Given the description of an element on the screen output the (x, y) to click on. 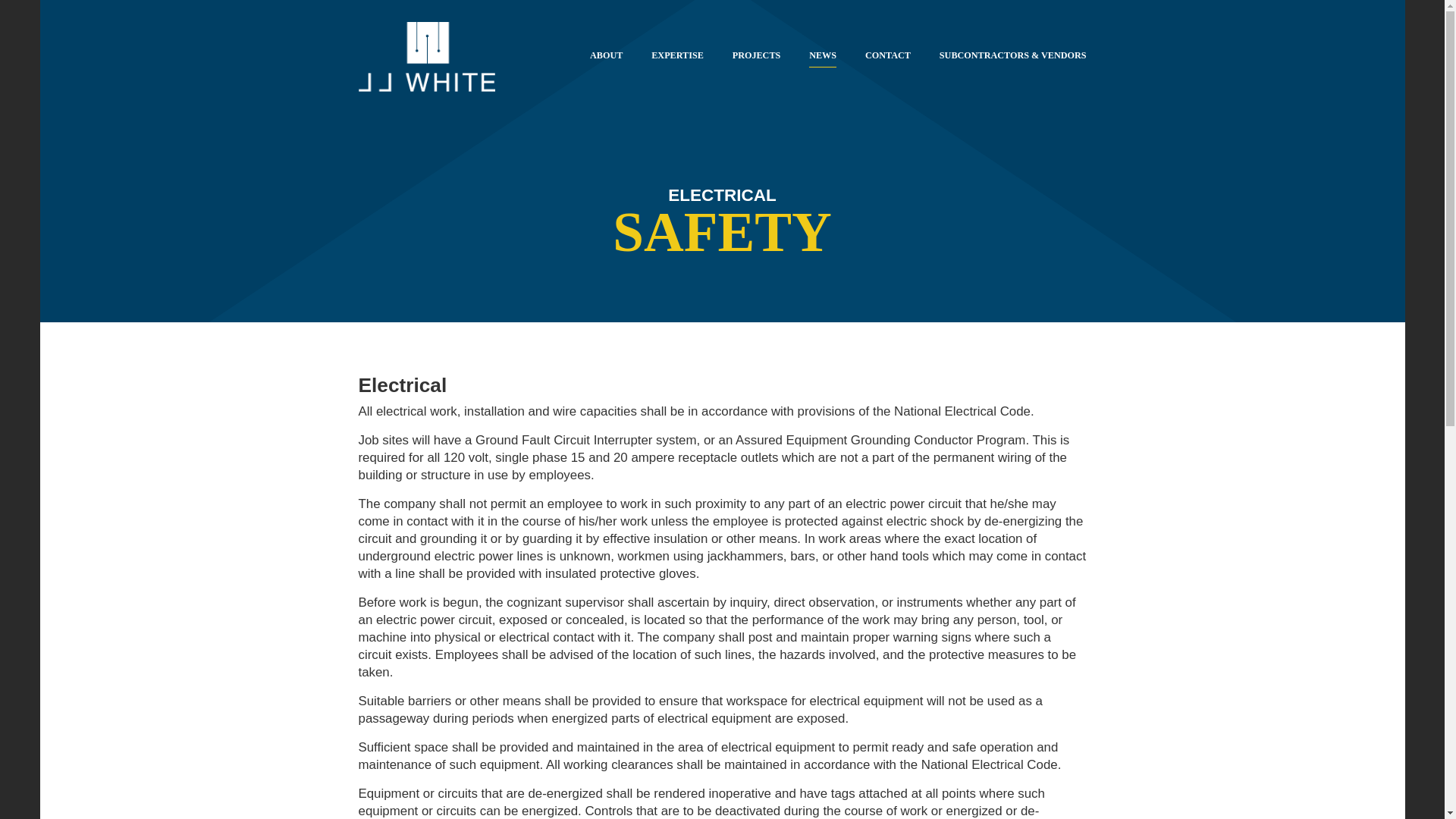
EXPERTISE (676, 57)
PROJECTS (756, 57)
ABOUT (606, 57)
